Given the description of an element on the screen output the (x, y) to click on. 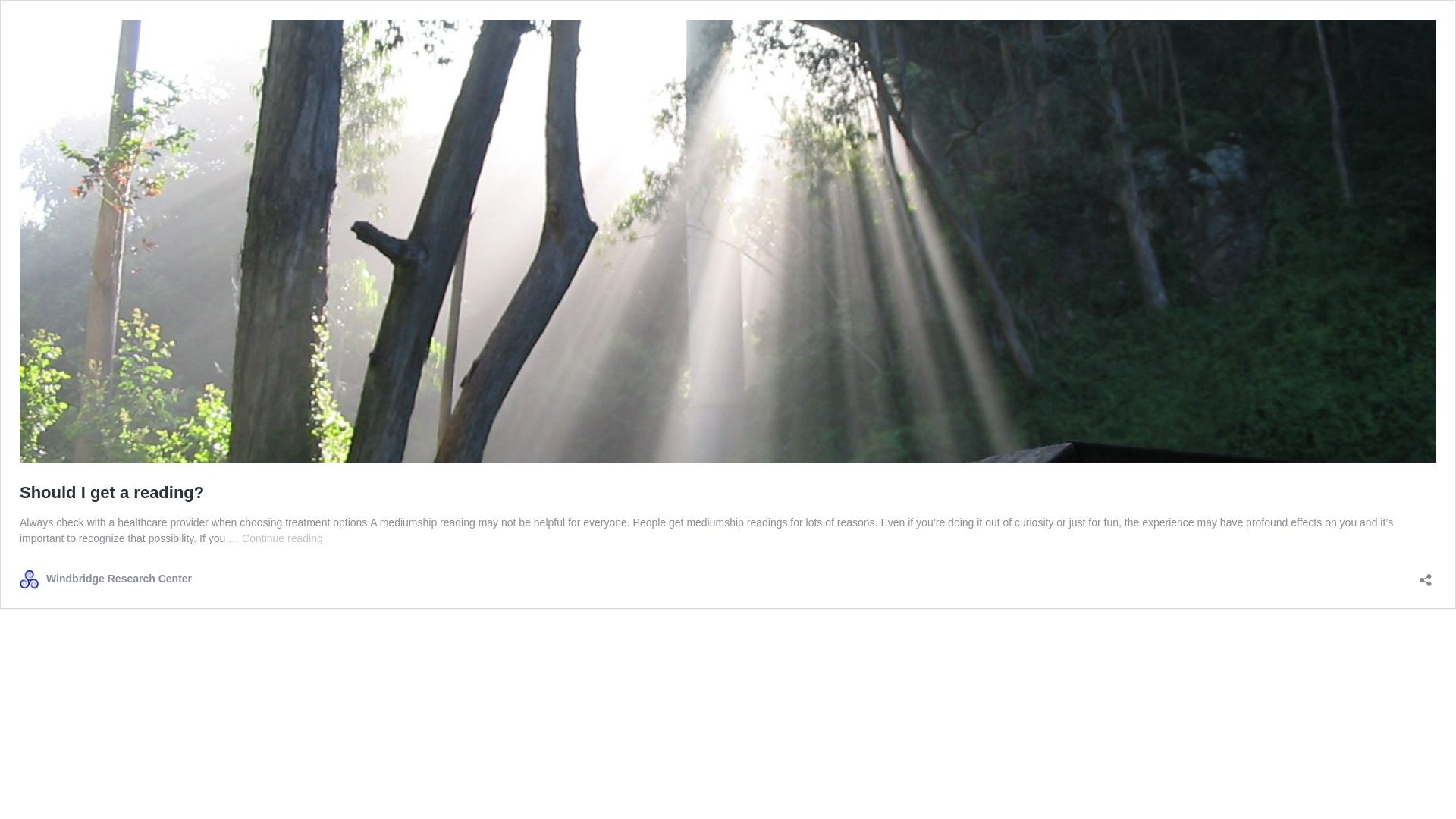
Should I get a reading? (282, 538)
Windbridge Research Center (111, 492)
